Given the description of an element on the screen output the (x, y) to click on. 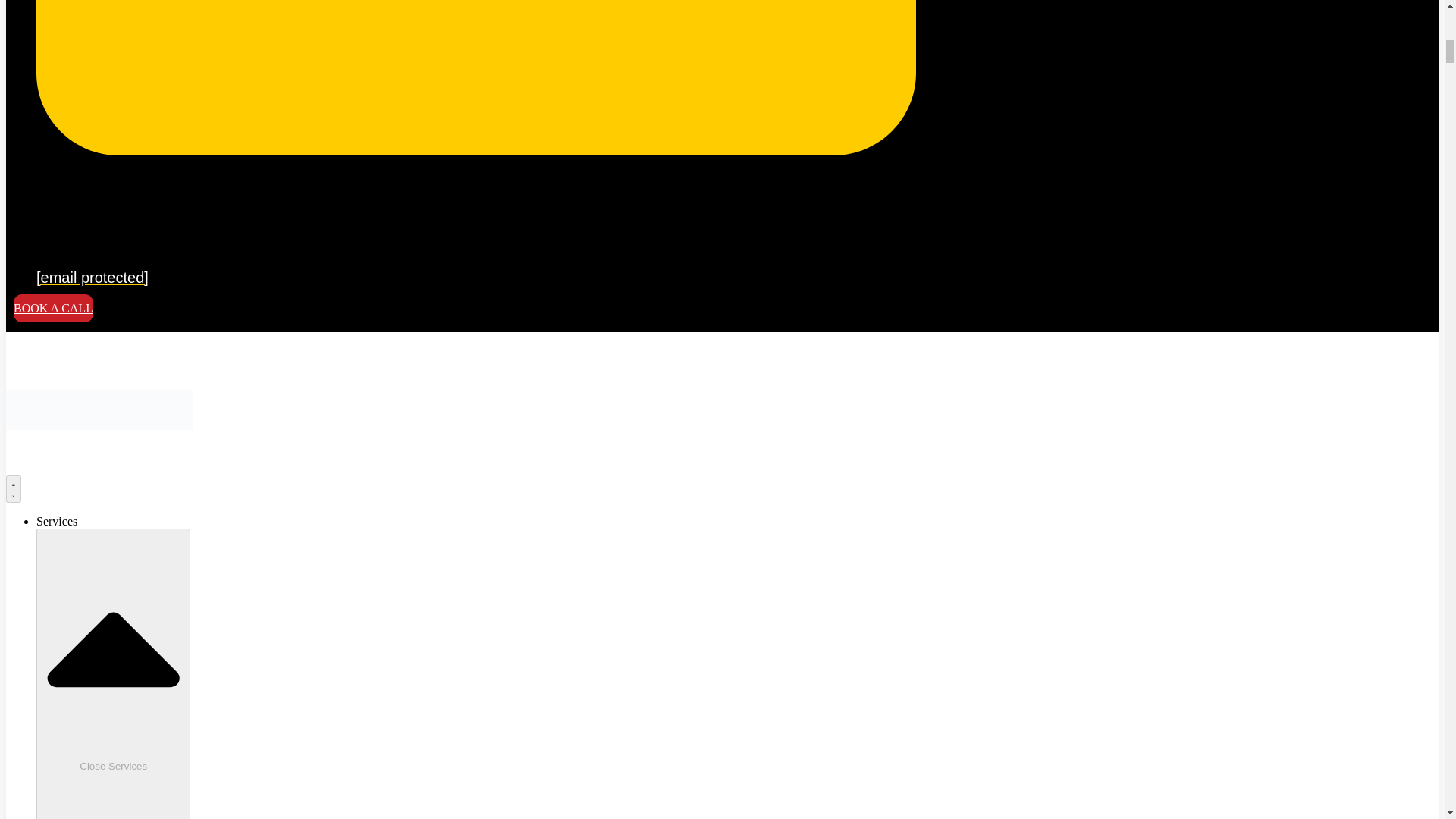
BOOK A CALL (53, 308)
